Given the description of an element on the screen output the (x, y) to click on. 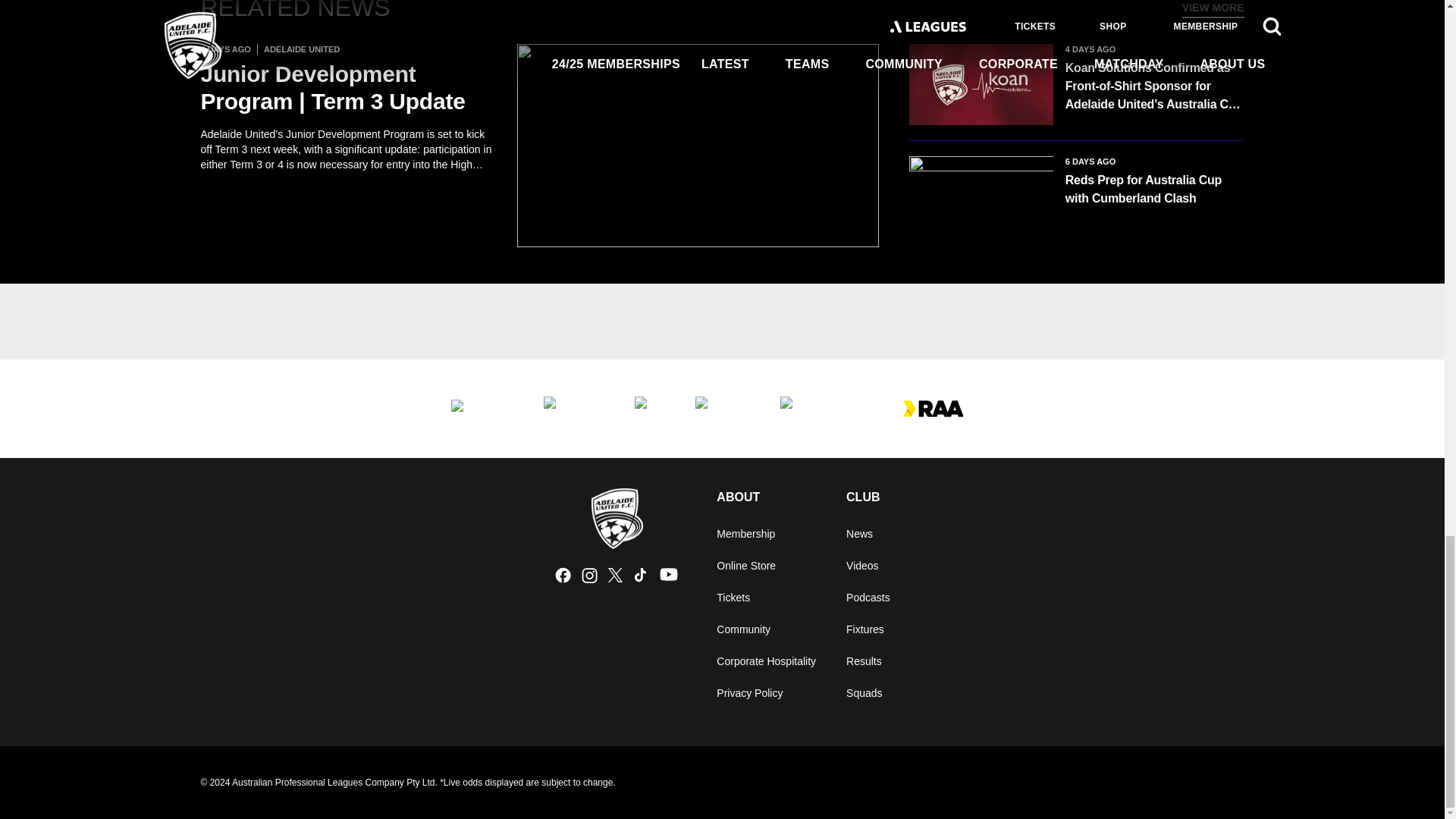
RAA (932, 408)
Kite Property (721, 408)
Flinders University (480, 408)
VAILO (809, 408)
UCAN (573, 408)
